Given the description of an element on the screen output the (x, y) to click on. 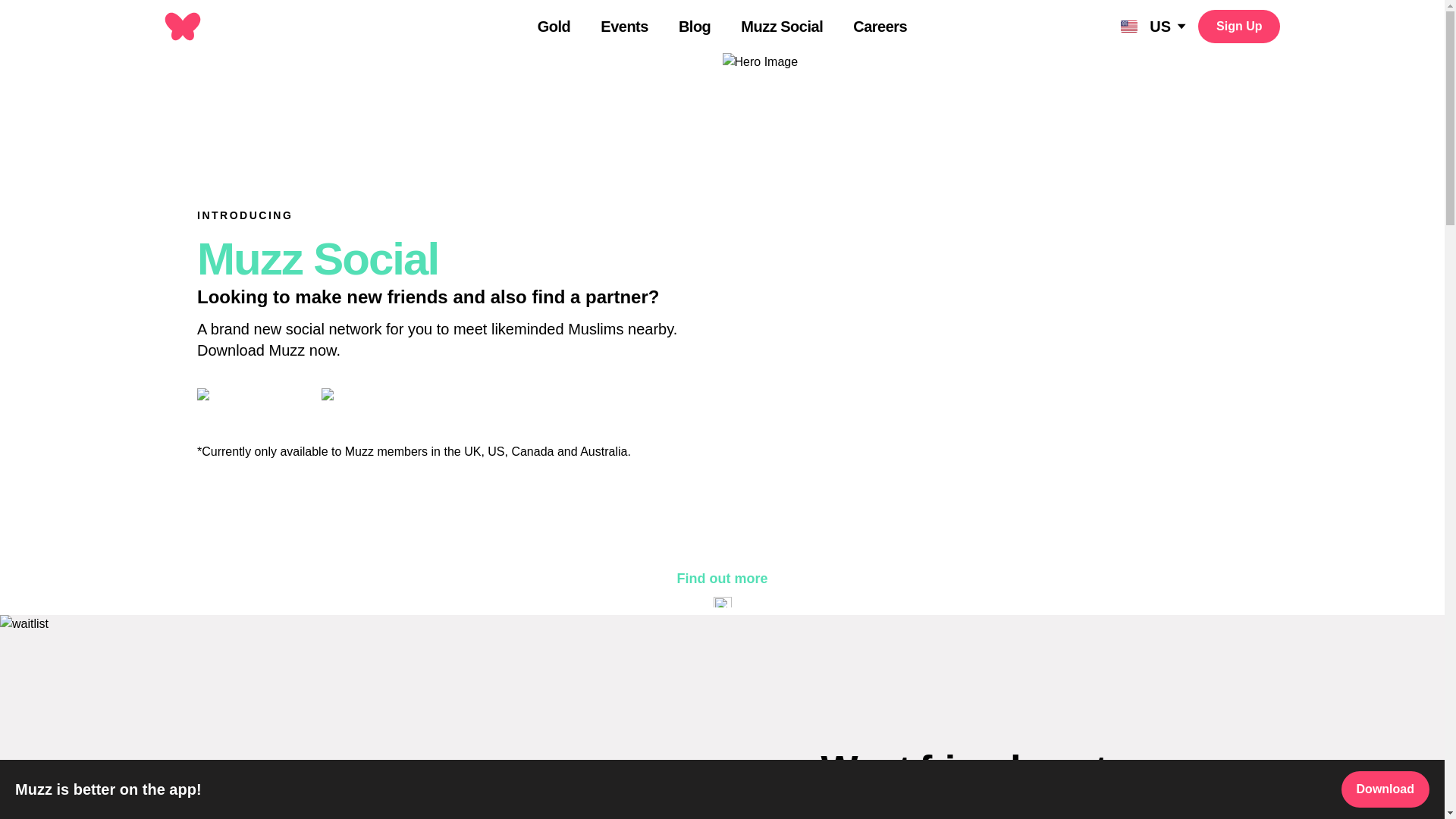
Download (1384, 788)
US (1153, 26)
Download (1384, 789)
Gold (553, 27)
Find out more (722, 578)
Careers (880, 27)
Sign Up (1238, 26)
Muzz Social (781, 27)
Events (623, 27)
Find out more (722, 578)
